Given the description of an element on the screen output the (x, y) to click on. 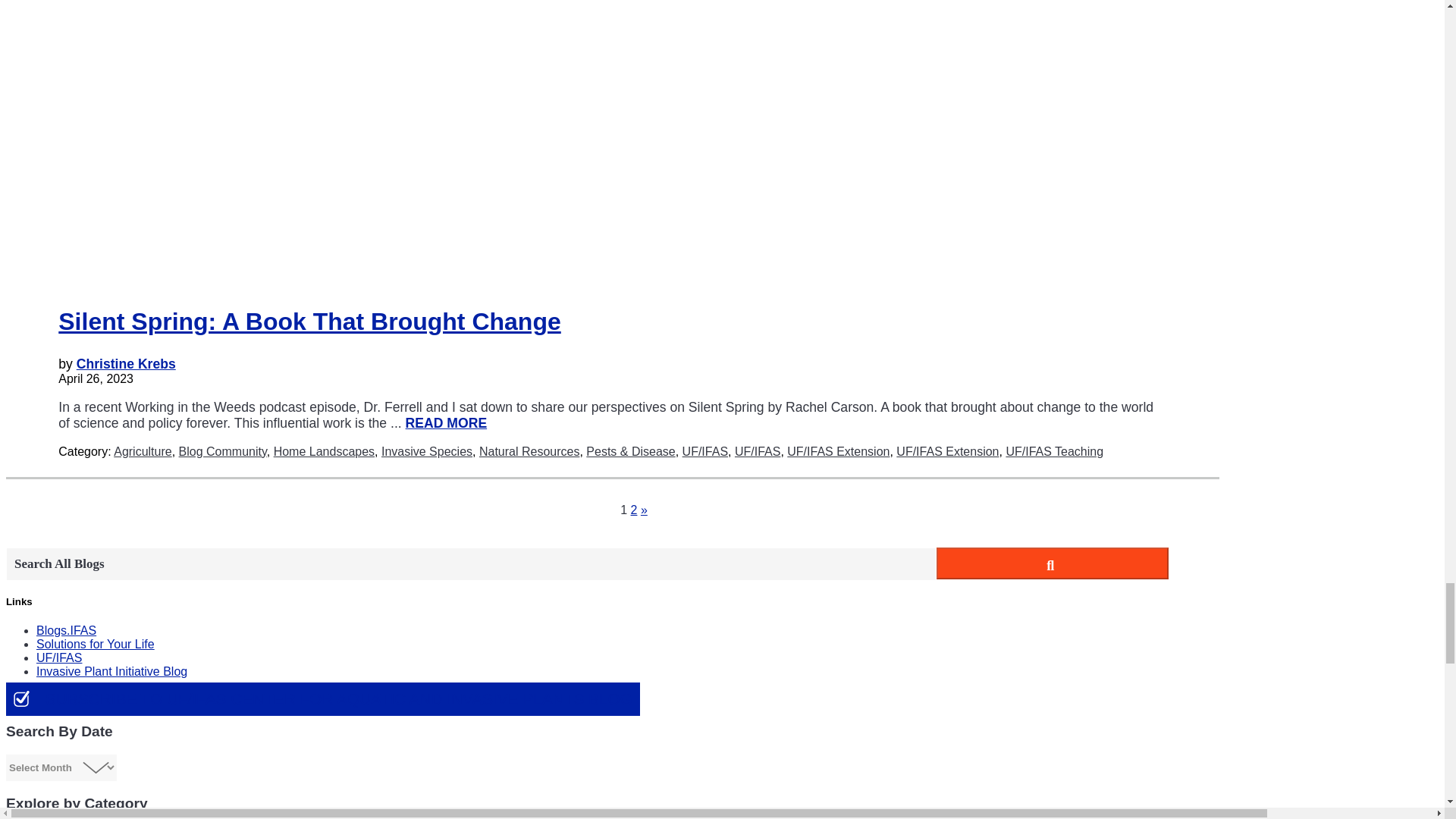
Search All Blogs (470, 563)
